Given the description of an element on the screen output the (x, y) to click on. 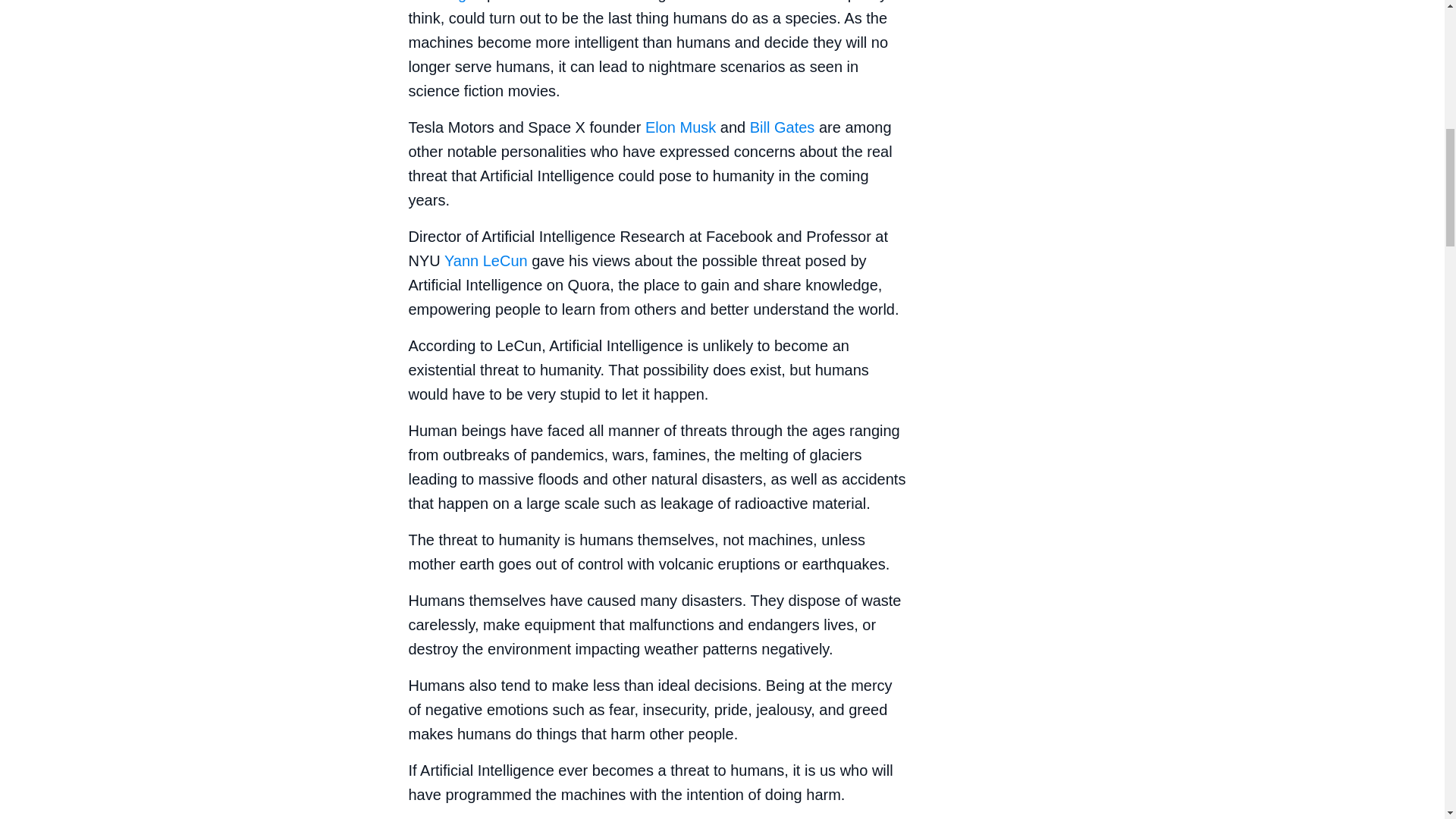
Bill Gates (782, 126)
Elon Musk (680, 126)
Yann LeCun (485, 260)
